Given the description of an element on the screen output the (x, y) to click on. 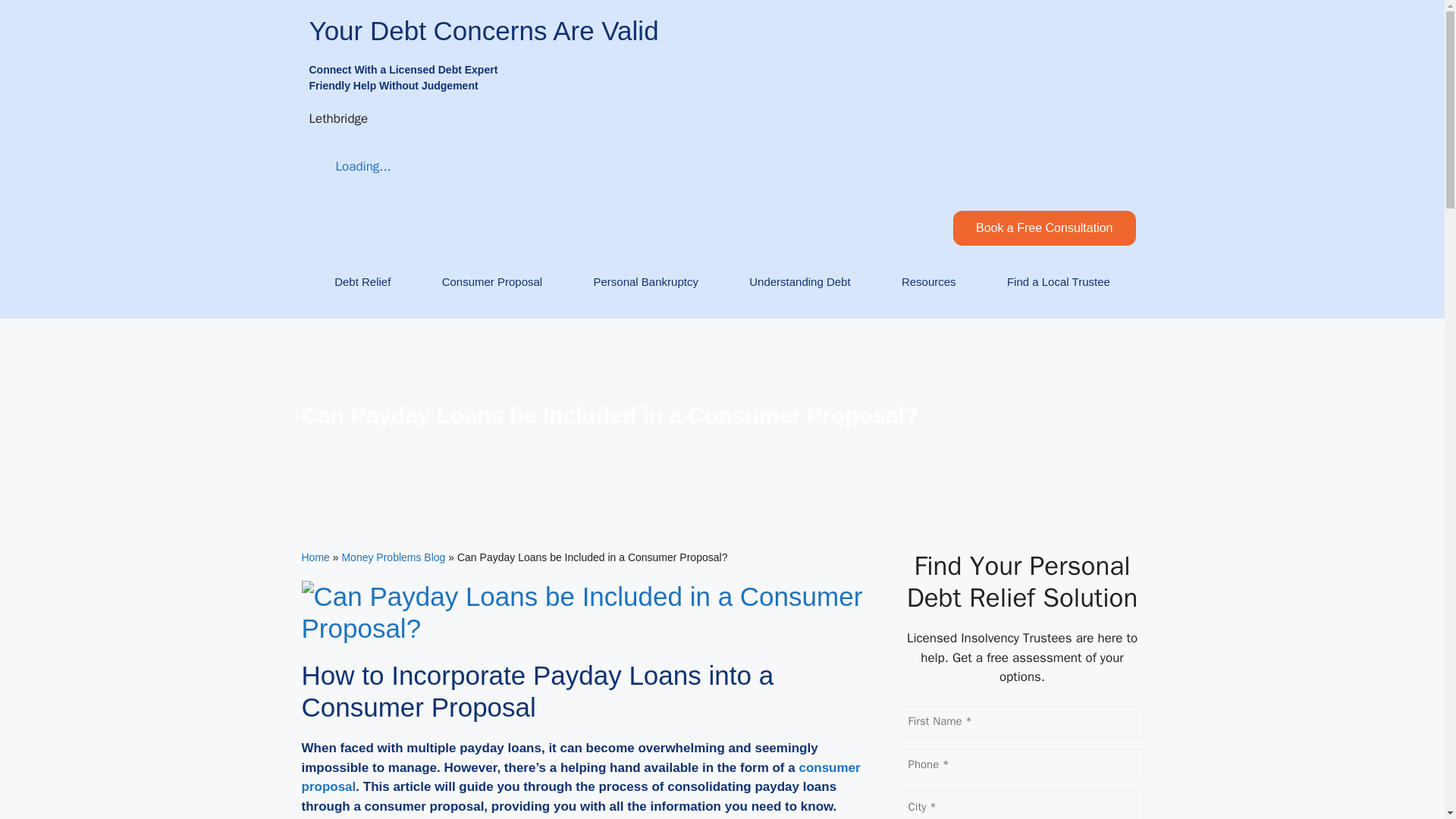
Consumer Proposal (491, 282)
Personal Bankruptcy (645, 282)
Debt Relief (362, 282)
Resources (928, 282)
Find a Local Trustee (1058, 282)
Loading... (349, 166)
Book a Free Consultation (1044, 227)
Understanding Debt (799, 282)
